Given the description of an element on the screen output the (x, y) to click on. 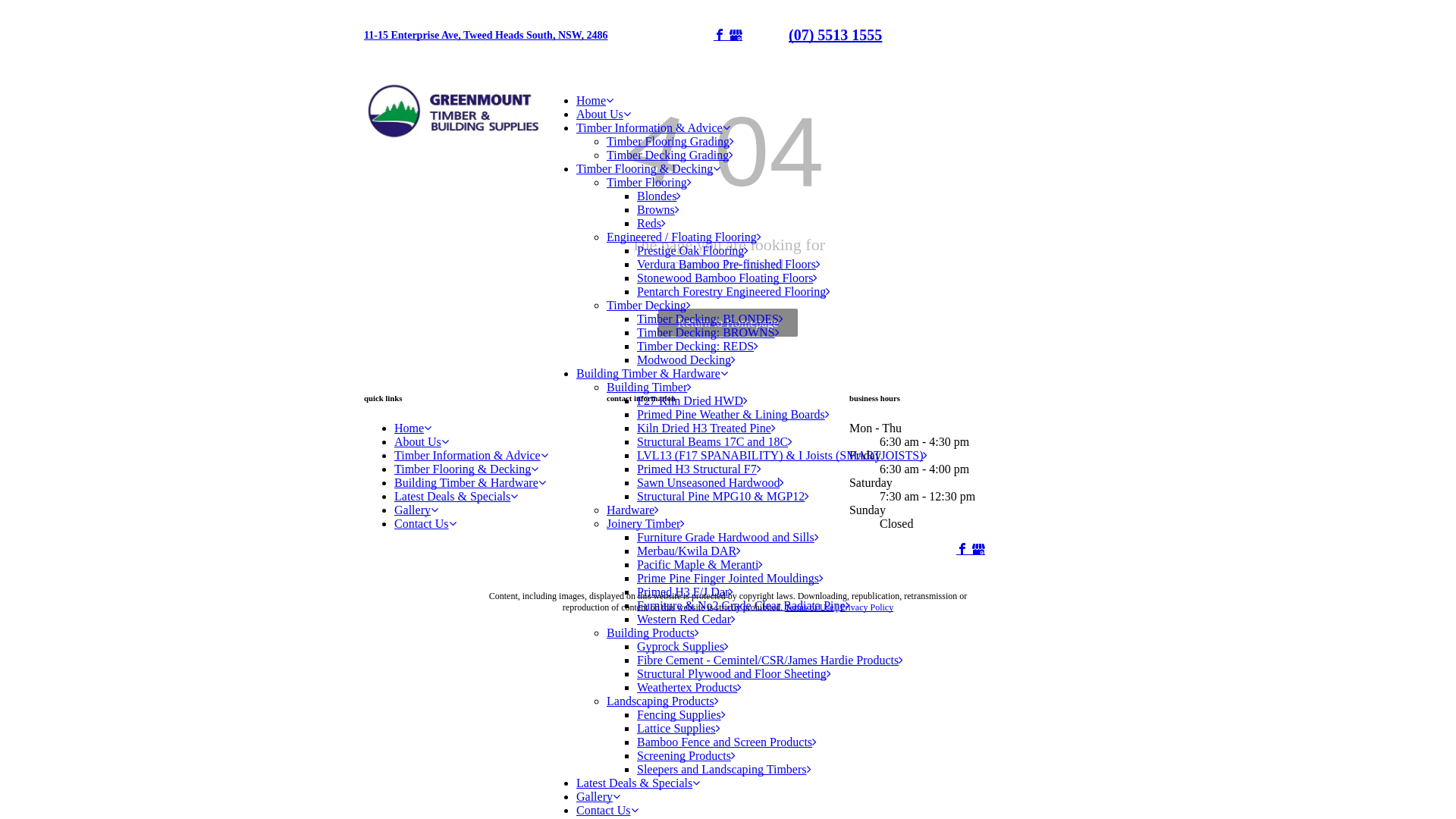
Gyprock Supplies Element type: text (682, 646)
Primed H3 Structural F7 Element type: text (699, 468)
Timber Decking: REDS Element type: text (697, 345)
Building Timber Element type: text (648, 386)
Building Products Element type: text (652, 632)
Joinery Timber Element type: text (645, 523)
Building Timber & Hardware Element type: text (470, 482)
Sleepers and Landscaping Timbers Element type: text (724, 768)
Timber Decking Grading Element type: text (669, 154)
Modwood Decking Element type: text (686, 359)
Timber Decking: BLONDES Element type: text (710, 318)
Home Element type: text (594, 100)
Timber Flooring Grading Element type: text (670, 140)
Gallery Element type: text (416, 509)
Reds Element type: text (651, 222)
Stonewood Bamboo Floating Floors Element type: text (727, 277)
Terms of Use Element type: text (808, 607)
Pacific Maple & Meranti Element type: text (699, 564)
Prestige Oak Flooring Element type: text (692, 250)
Hardware Element type: text (632, 509)
Contact Us Element type: text (607, 809)
Furniture & No2 Grade Clear Radiata Pine Element type: text (743, 605)
Timber Flooring & Decking Element type: text (648, 168)
Structural Beams 17C and 18C Element type: text (714, 441)
Pentarch Forestry Engineered Flooring Element type: text (733, 291)
Primed H3 F/J Dar Element type: text (685, 591)
About Us Element type: text (603, 113)
Landscaping Products Element type: text (662, 700)
Western Red Cedar Element type: text (686, 618)
Greenmount Timber & Building Supplies Element type: hover (455, 110)
Screening Products Element type: text (686, 755)
Verdura Bamboo Pre-finished Floors Element type: text (728, 263)
Blondes Element type: text (658, 195)
Timber Decking: BROWNS Element type: text (708, 332)
F27 Kiln Dried HWD Element type: text (692, 400)
Latest Deals & Specials Element type: text (637, 782)
Fibre Cement - Cemintel/CSR/James Hardie Products Element type: text (770, 659)
LVL13 (F17 SPANABILITY) & I Joists (SMARTJOISTS) Element type: text (782, 454)
Timber Decking Element type: text (648, 304)
11-15 Enterprise Ave, Tweed Heads South, NSW, 2486 Element type: text (486, 34)
Kiln Dried H3 Treated Pine Element type: text (706, 427)
Merbau/Kwila DAR Element type: text (688, 550)
Latest Deals & Specials Element type: text (455, 495)
Timber Flooring & Decking Element type: text (466, 468)
Furniture Grade Hardwood and Sills Element type: text (728, 536)
Weathertex Products Element type: text (689, 686)
Sawn Unseasoned Hardwood Element type: text (710, 482)
Fencing Supplies Element type: text (681, 714)
Building Timber & Hardware Element type: text (652, 373)
sales@greenmounttimber.com.au Element type: text (728, 453)
Timber Information & Advice Element type: text (471, 454)
Prime Pine Finger Jointed Mouldings Element type: text (730, 577)
Primed Pine Weather & Lining Boards Element type: text (733, 413)
Contact Us Element type: text (425, 523)
About Us Element type: text (421, 441)
(07) 5513 1555 Element type: text (680, 427)
Browns Element type: text (658, 209)
Home Element type: text (412, 427)
Timber Information & Advice Element type: text (653, 127)
Engineered / Floating Flooring Element type: text (683, 236)
Privacy Policy Element type: text (866, 607)
Lattice Supplies Element type: text (678, 727)
Gallery Element type: text (598, 796)
Timber Flooring Element type: text (648, 181)
(07) 5513 1555 Element type: text (834, 34)
Bamboo Fence and Screen Products Element type: text (726, 741)
Structural Plywood and Floor Sheeting Element type: text (734, 673)
Return to Homepage Element type: text (727, 322)
Structural Pine MPG10 & MGP12 Element type: text (723, 495)
